Given the description of an element on the screen output the (x, y) to click on. 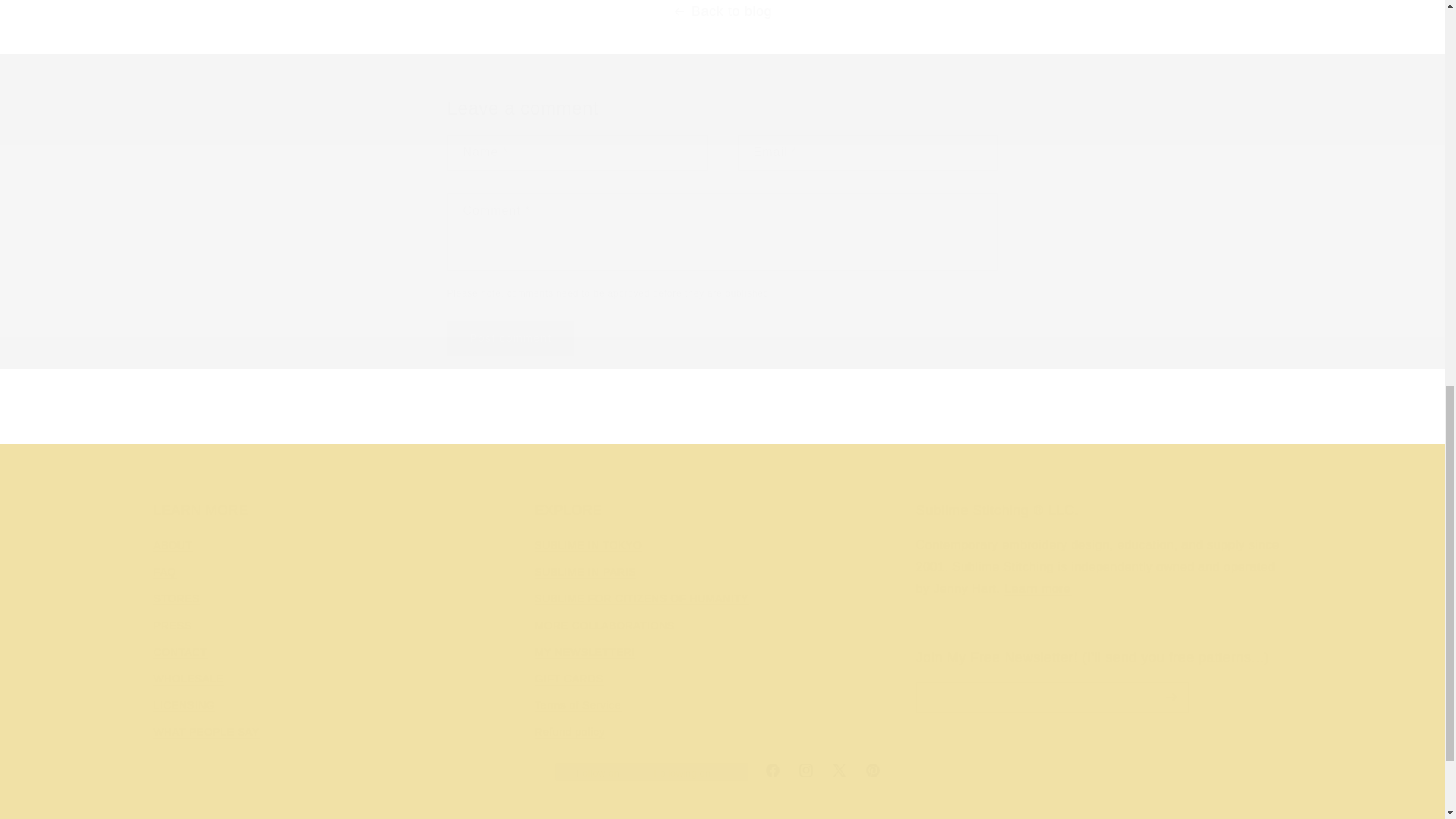
0 (435, 418)
0 (1198, 418)
Subscribe (961, 751)
As seen in (721, 403)
Post comment (510, 338)
0 (816, 418)
0 (1007, 418)
0 (626, 418)
